Given the description of an element on the screen output the (x, y) to click on. 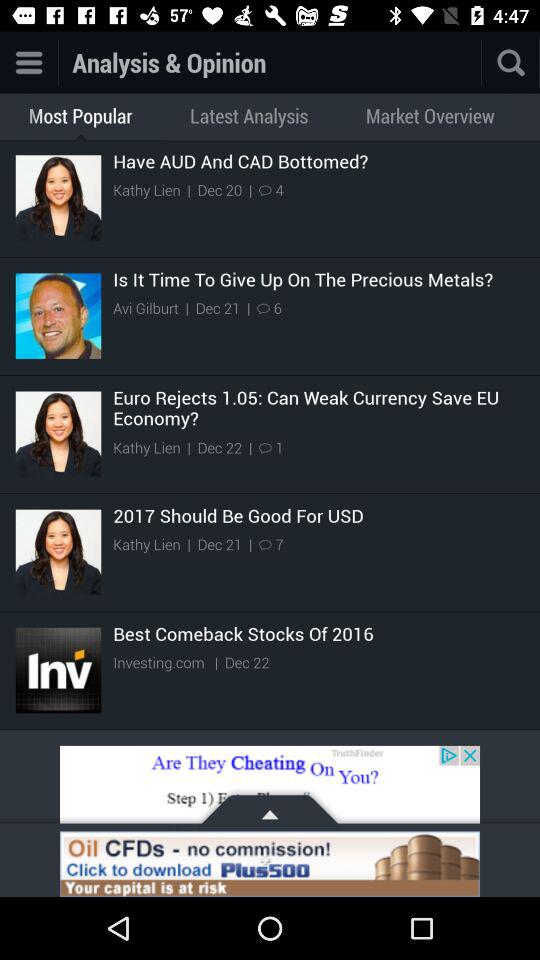
advertisement in the bottom (270, 788)
